Given the description of an element on the screen output the (x, y) to click on. 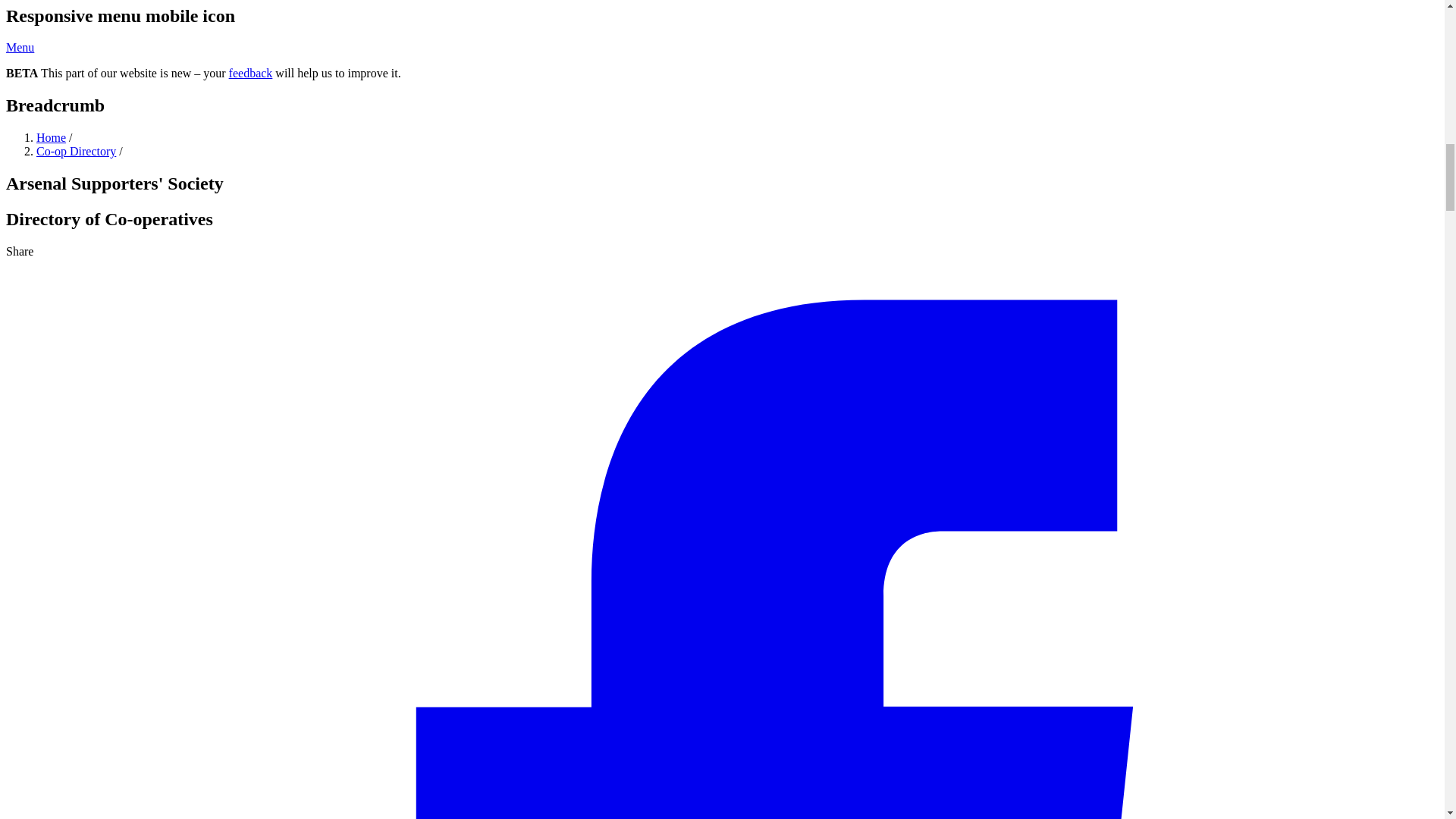
Menu (19, 47)
